Given the description of an element on the screen output the (x, y) to click on. 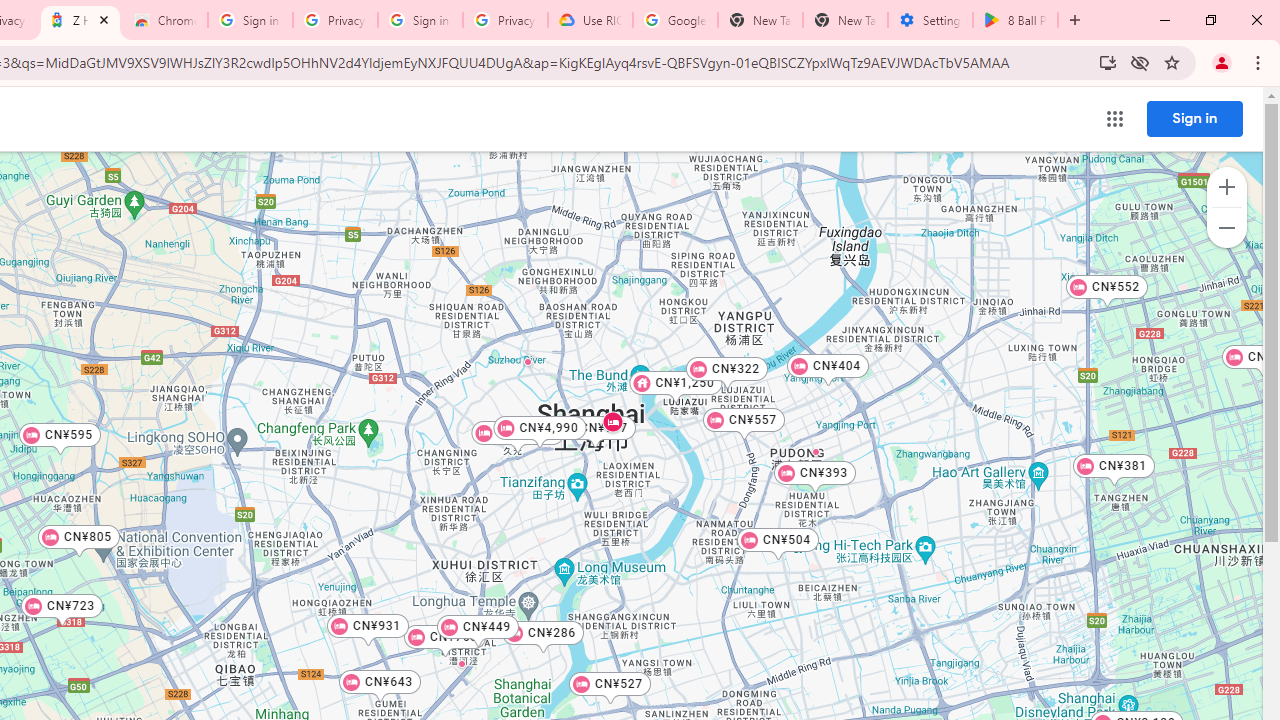
8 Ball Pool - Apps on Google Play (1015, 20)
Sign in - Google Accounts (250, 20)
Zoom out map (1226, 227)
Z Hotel (612, 421)
Zoom in map (1226, 187)
Vienna International Hotel (527, 361)
